Given the description of an element on the screen output the (x, y) to click on. 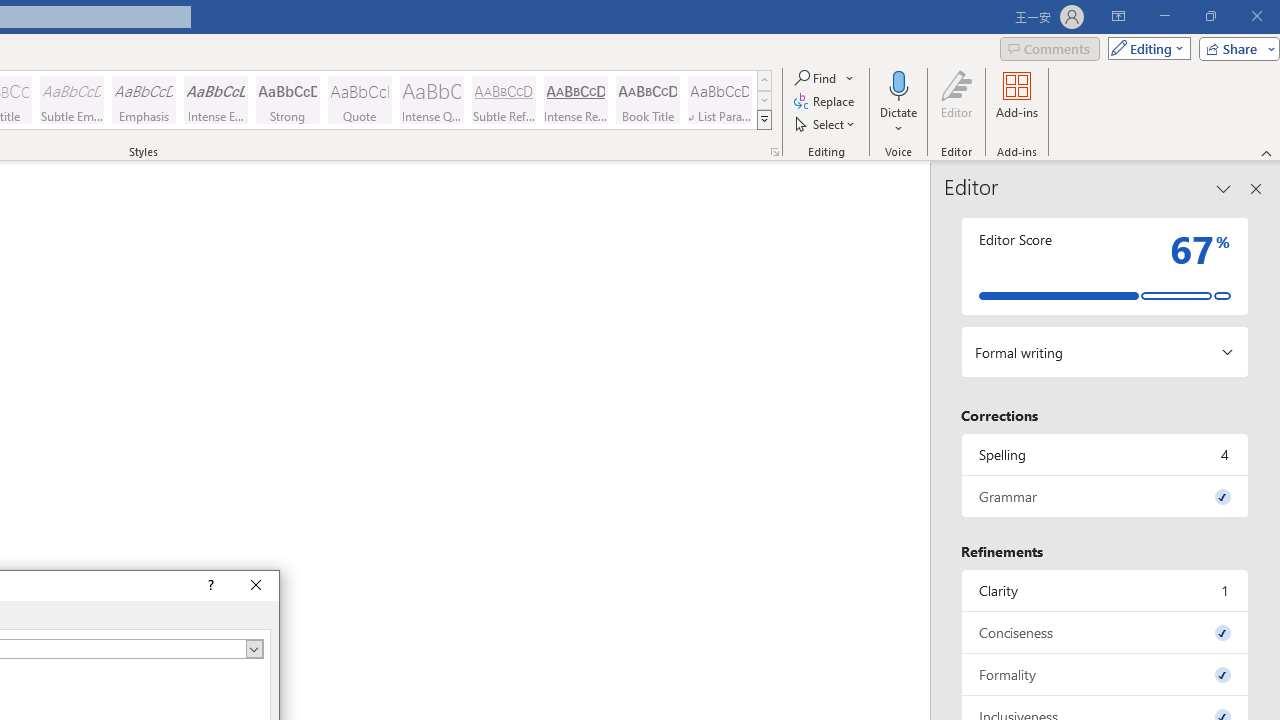
Intense Quote (431, 100)
Grammar, 0 issues. Press space or enter to review items. (1105, 495)
Formality, 0 issues. Press space or enter to review items. (1105, 673)
Book Title (647, 100)
Quote (359, 100)
Select (826, 124)
Intense Emphasis (216, 100)
Intense Reference (575, 100)
Spelling, 4 issues. Press space or enter to review items. (1105, 454)
